Given the description of an element on the screen output the (x, y) to click on. 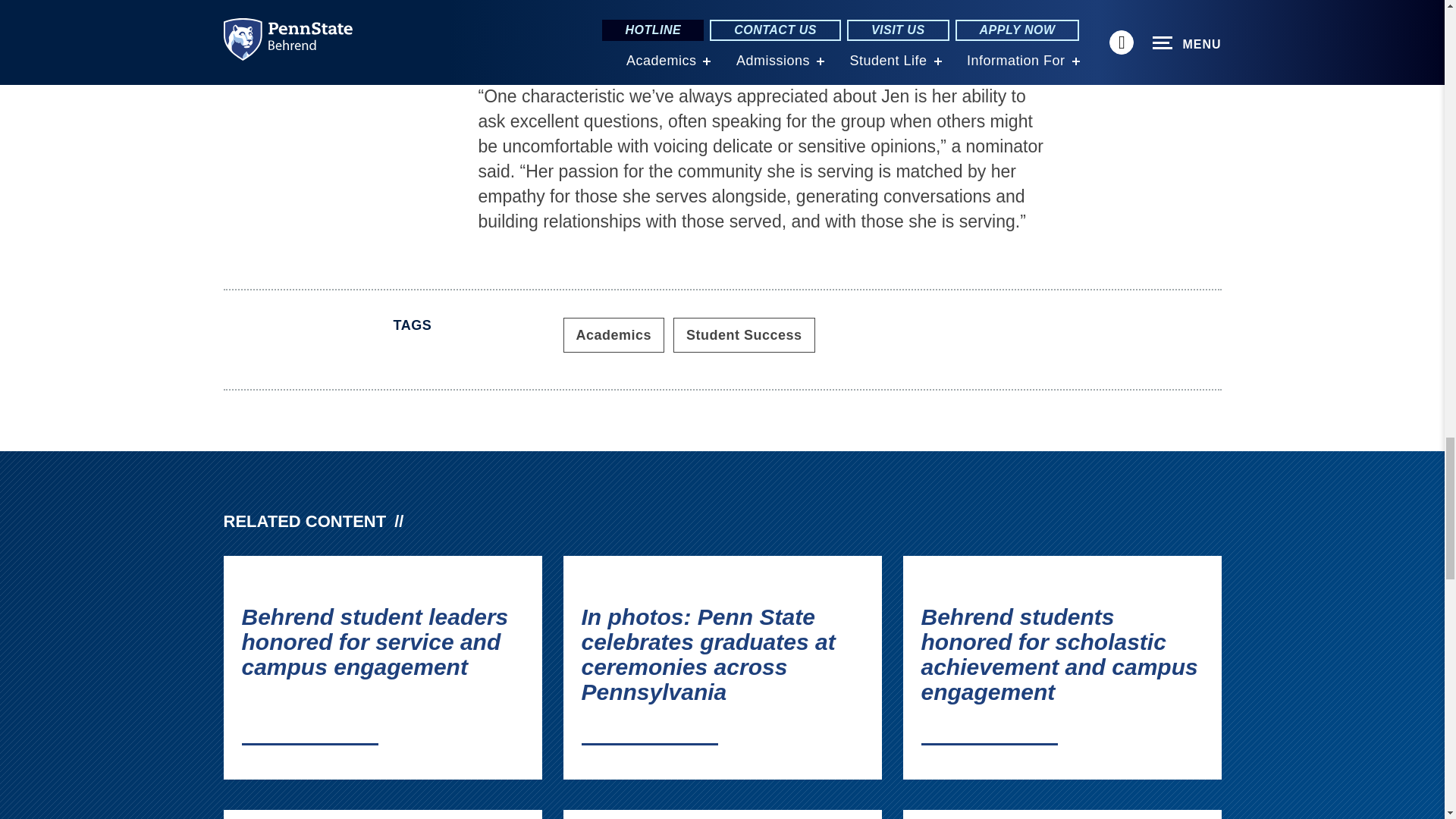
Content tagged with Academics (612, 334)
Content tagged with Student Success (743, 334)
